Given the description of an element on the screen output the (x, y) to click on. 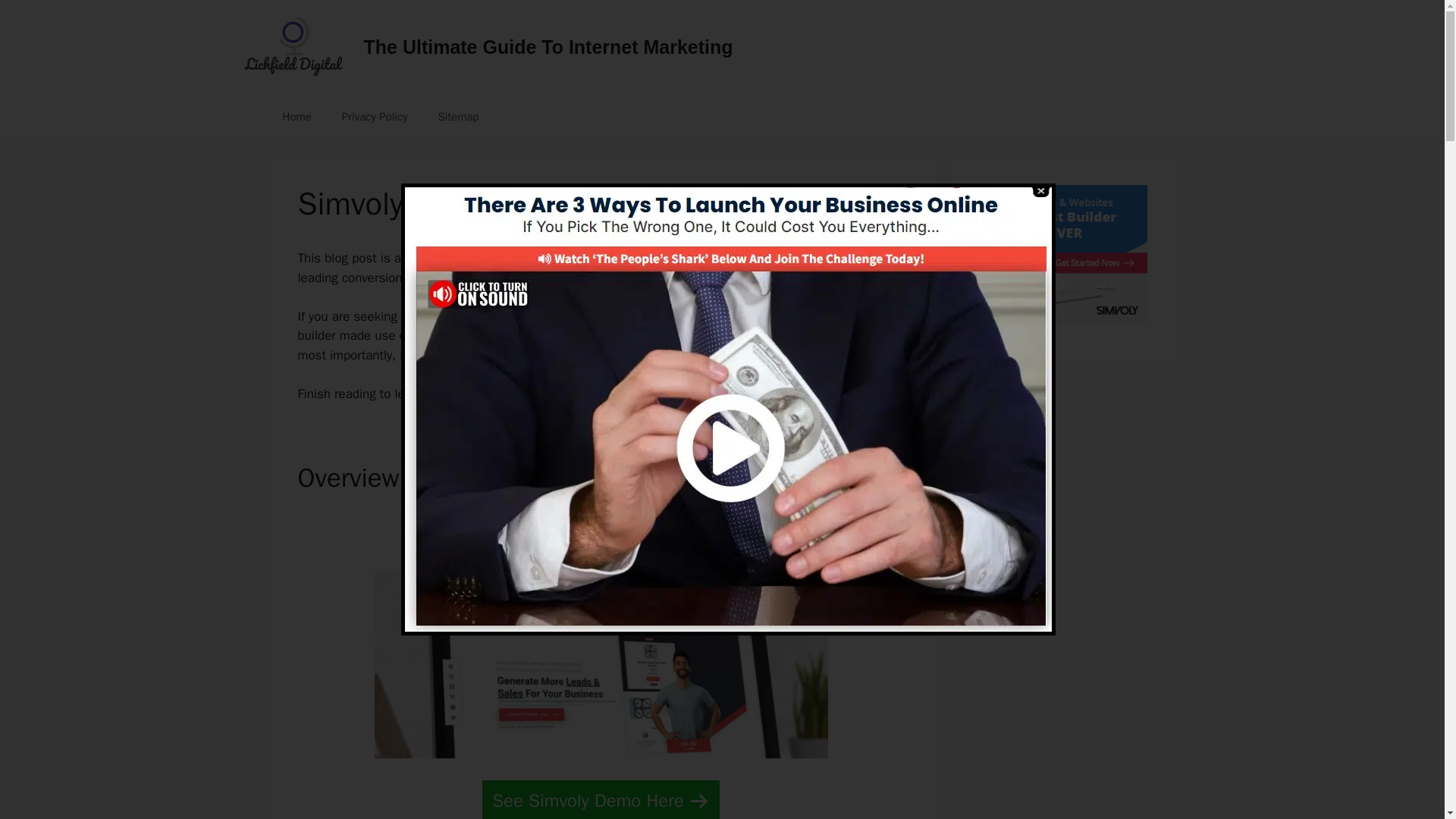
Privacy Policy (374, 116)
Simvoly (550, 316)
See Simvoly Demo Here (600, 799)
Home (296, 116)
Close (1039, 191)
The Ultimate Guide To Internet Marketing (548, 46)
Sitemap (457, 116)
Simvoly Builder (1063, 319)
